Given the description of an element on the screen output the (x, y) to click on. 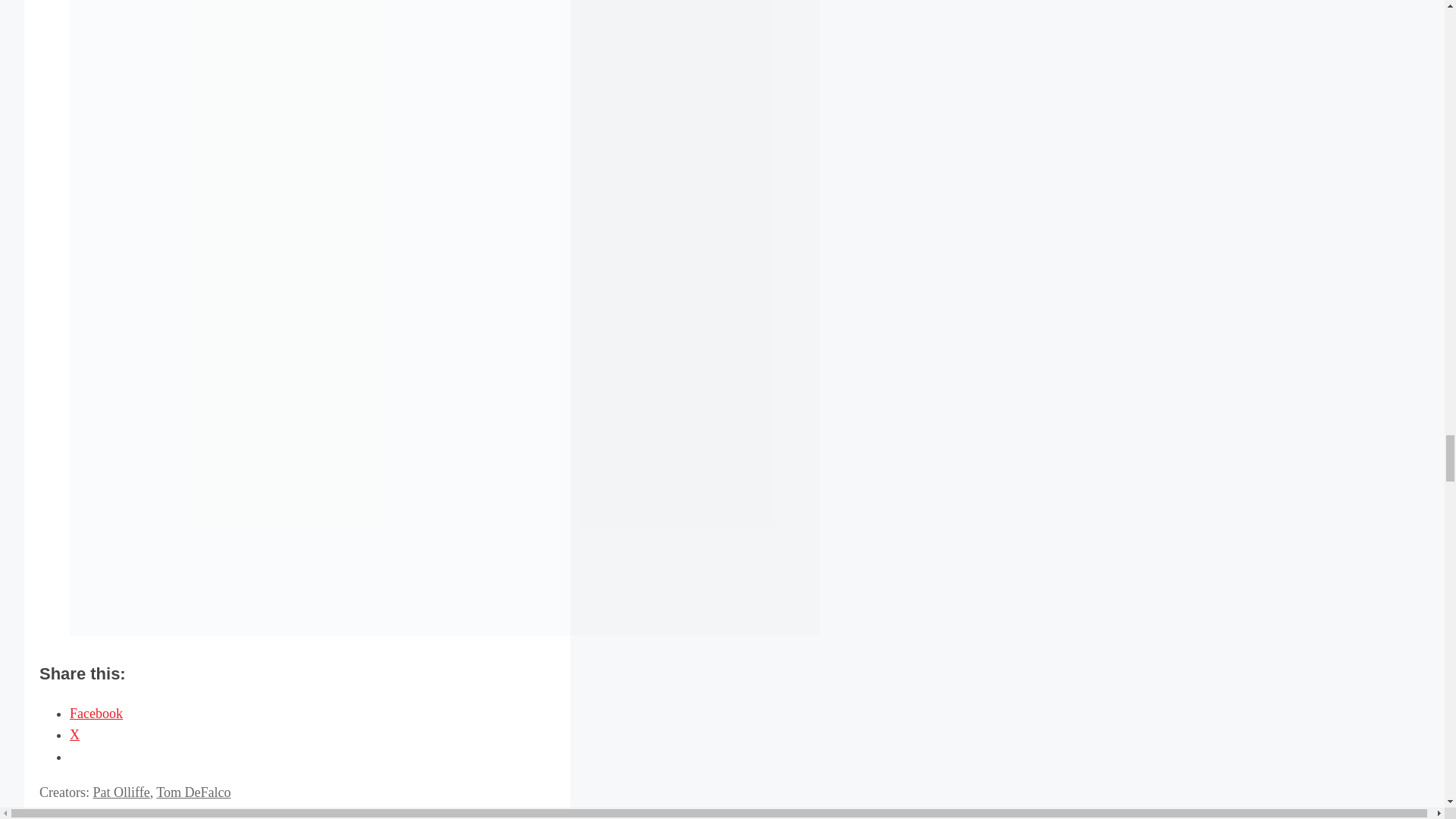
X (74, 734)
Tom DeFalco (192, 792)
F (83, 812)
Click to share on Facebook (95, 713)
Click to share on X (74, 734)
Facebook (95, 713)
Pat Olliffe (121, 792)
